Given the description of an element on the screen output the (x, y) to click on. 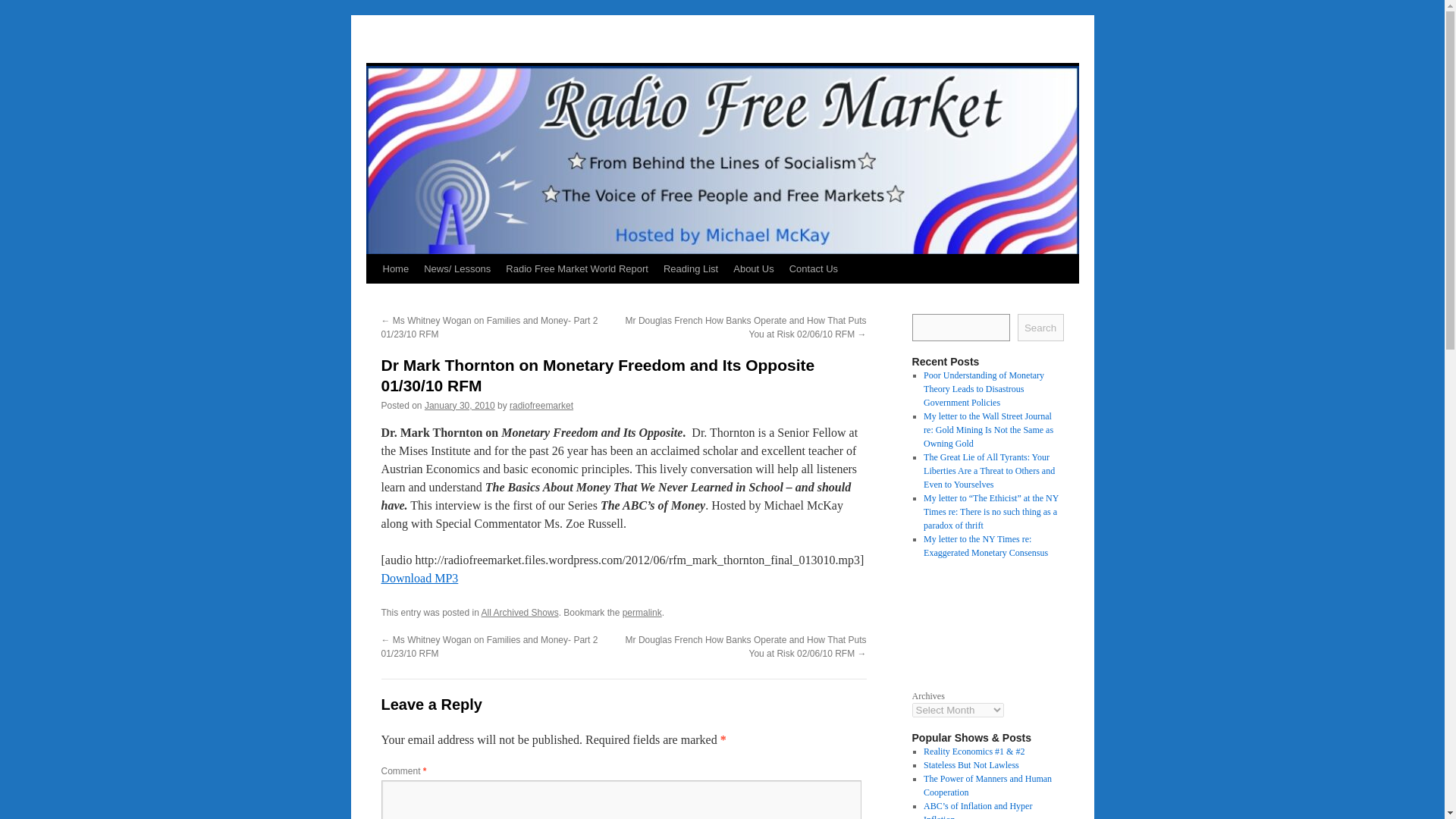
Contact Us (813, 268)
January 30, 2010 (460, 405)
10:06 am (460, 405)
My letter to the NY Times re: Exaggerated Monetary Consensus (985, 545)
The Power of Manners and Human Cooperation (987, 785)
Stateless But Not Lawless (971, 765)
About Us (752, 268)
Download MP3 (419, 577)
